Given the description of an element on the screen output the (x, y) to click on. 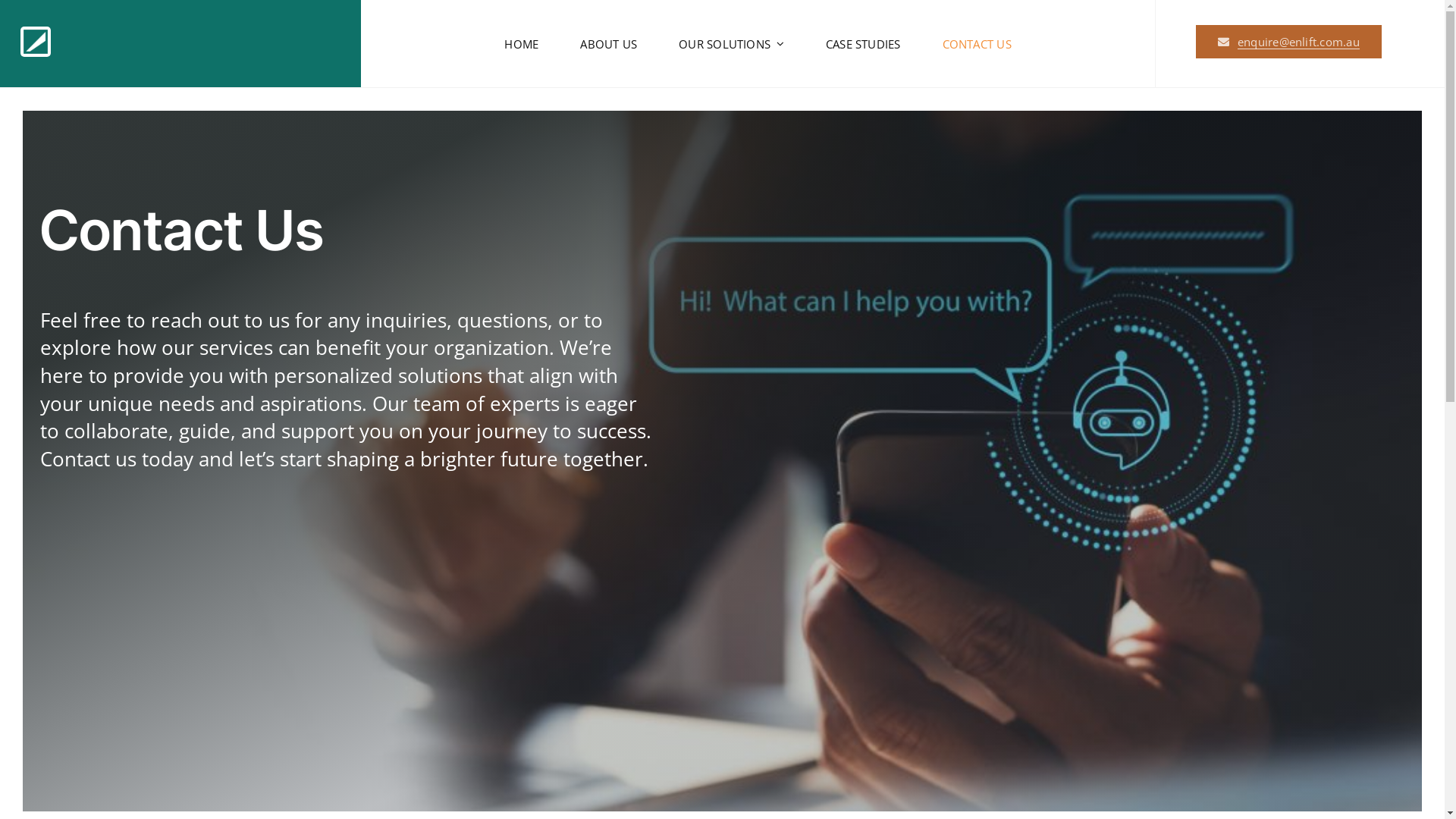
CONTACT US Element type: text (976, 43)
OUR SOLUTIONS Element type: text (731, 43)
HOME Element type: text (521, 43)
ABOUT US Element type: text (608, 43)
CASE STUDIES Element type: text (862, 43)
enquire@enlift.com.au Element type: text (1287, 41)
